Given the description of an element on the screen output the (x, y) to click on. 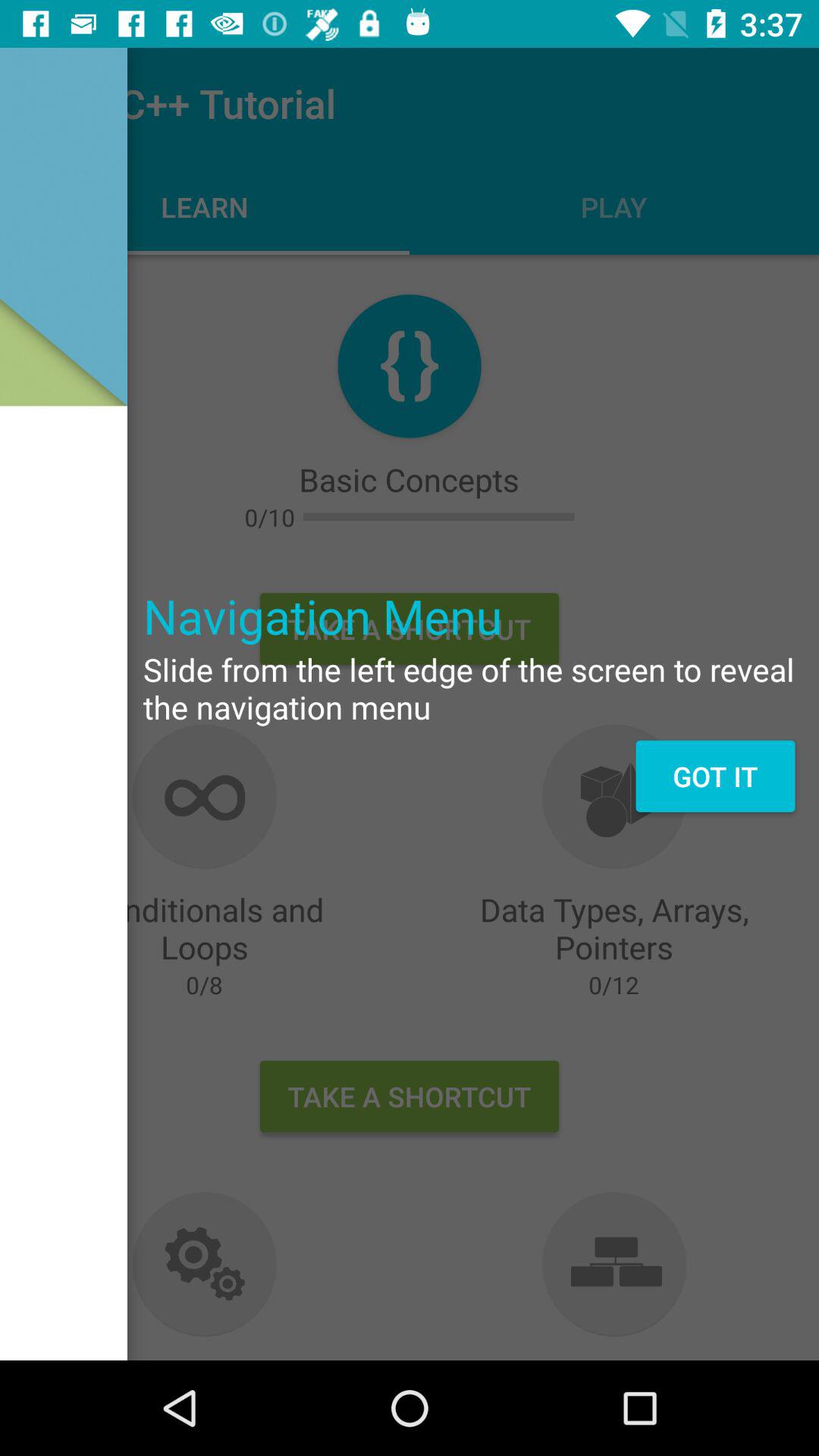
jump to the got it (715, 776)
